Given the description of an element on the screen output the (x, y) to click on. 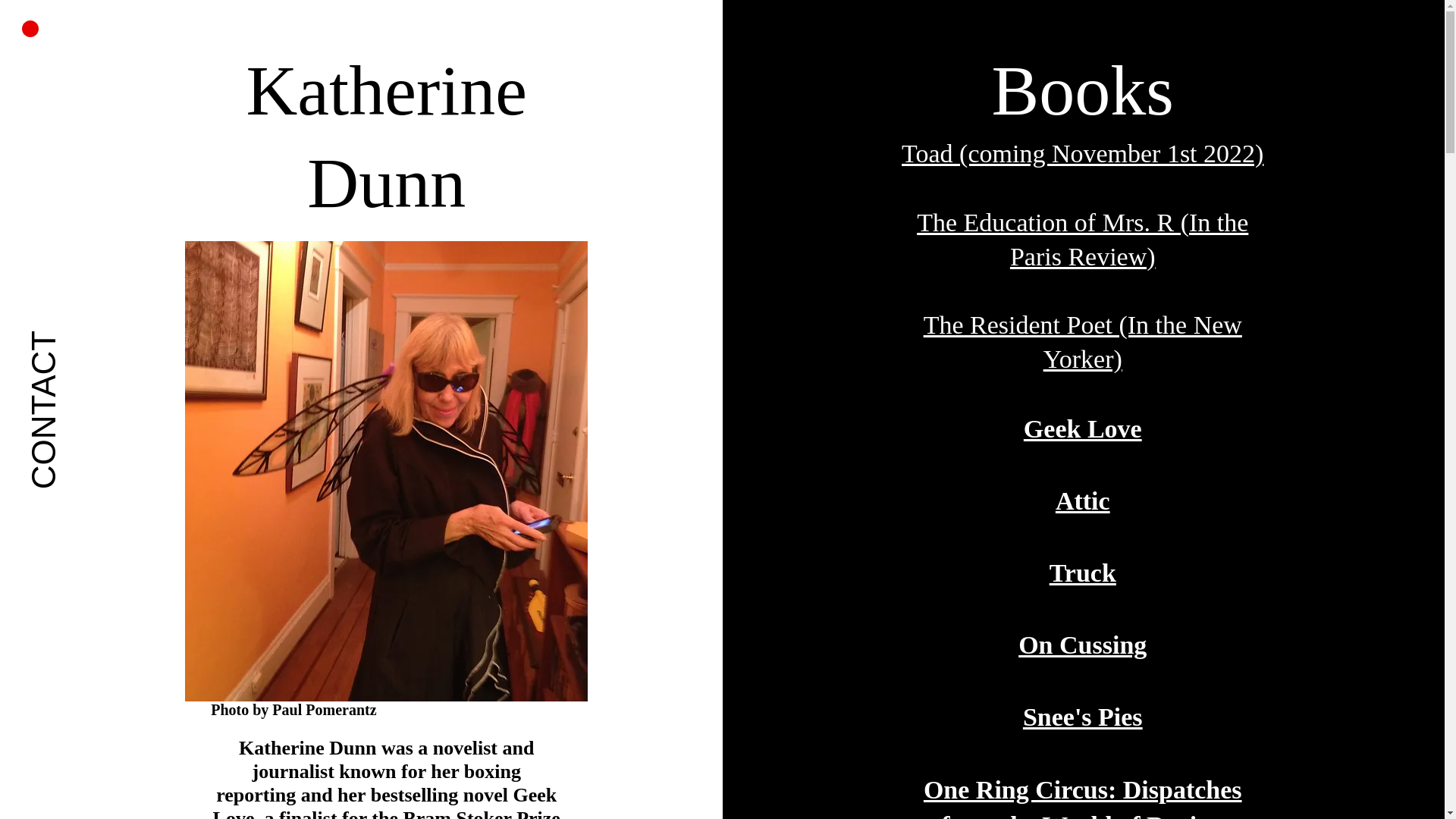
Snee's Pies (1082, 716)
Geek Love (1082, 428)
One Ring Circus: Dispatches from the World of Boxing (1082, 796)
CONTACT (111, 341)
Attic (1082, 500)
Truck (1082, 572)
On Cussing (1082, 644)
